Given the description of an element on the screen output the (x, y) to click on. 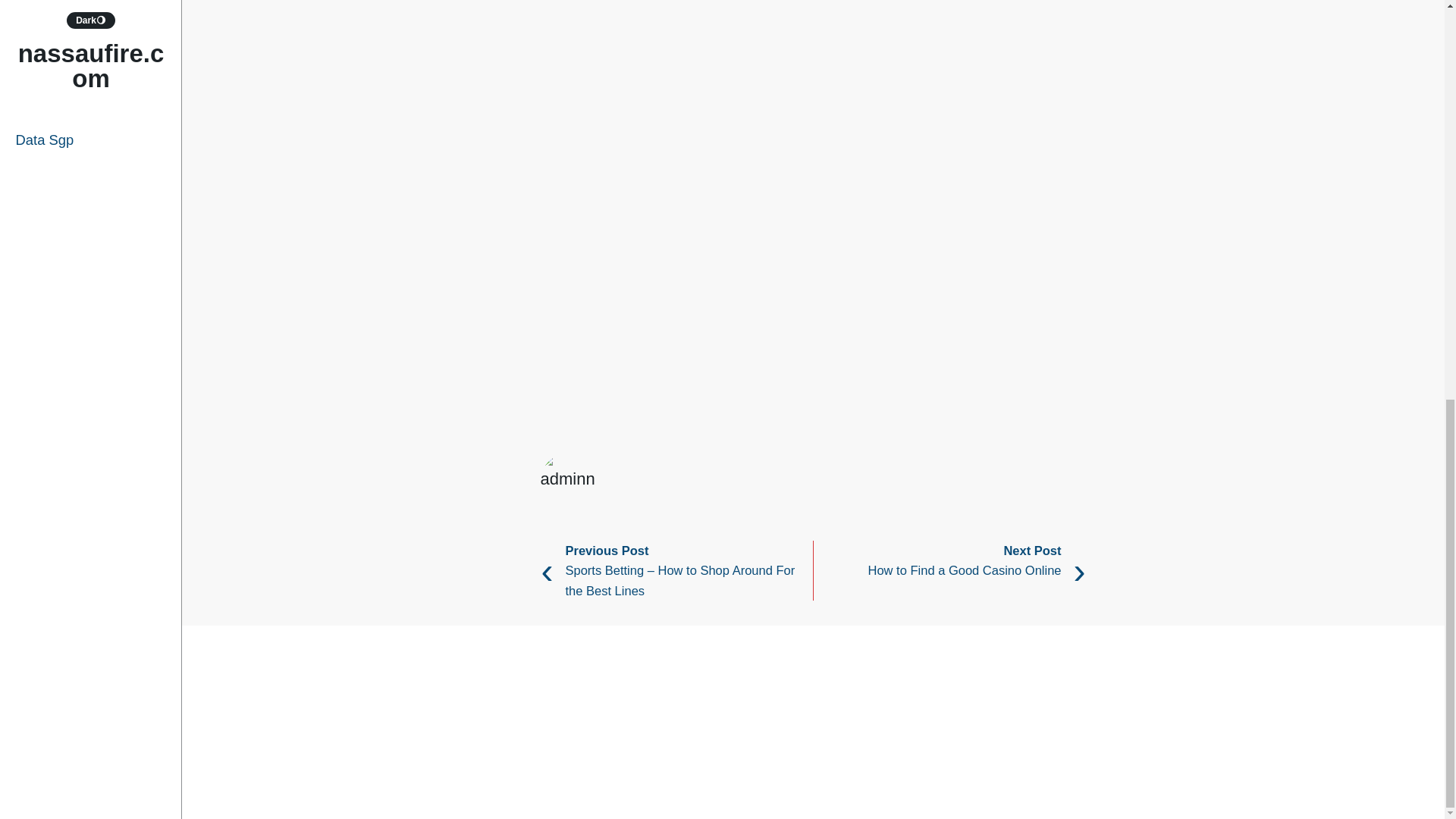
info (617, 418)
adminnas (1049, 466)
